Given the description of an element on the screen output the (x, y) to click on. 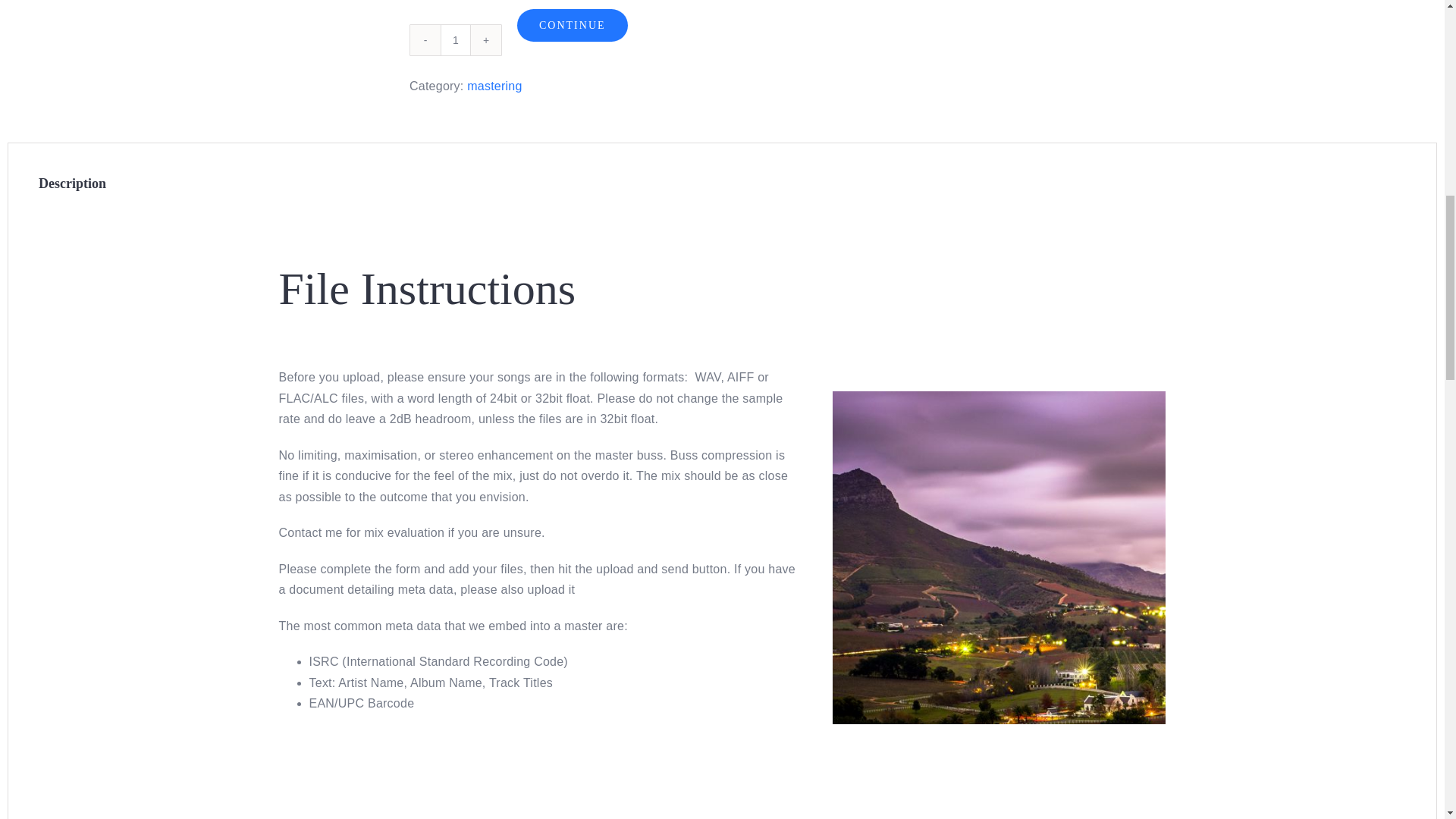
- (425, 40)
mastering (494, 85)
CONTINUE (571, 25)
1 (455, 40)
